Given the description of an element on the screen output the (x, y) to click on. 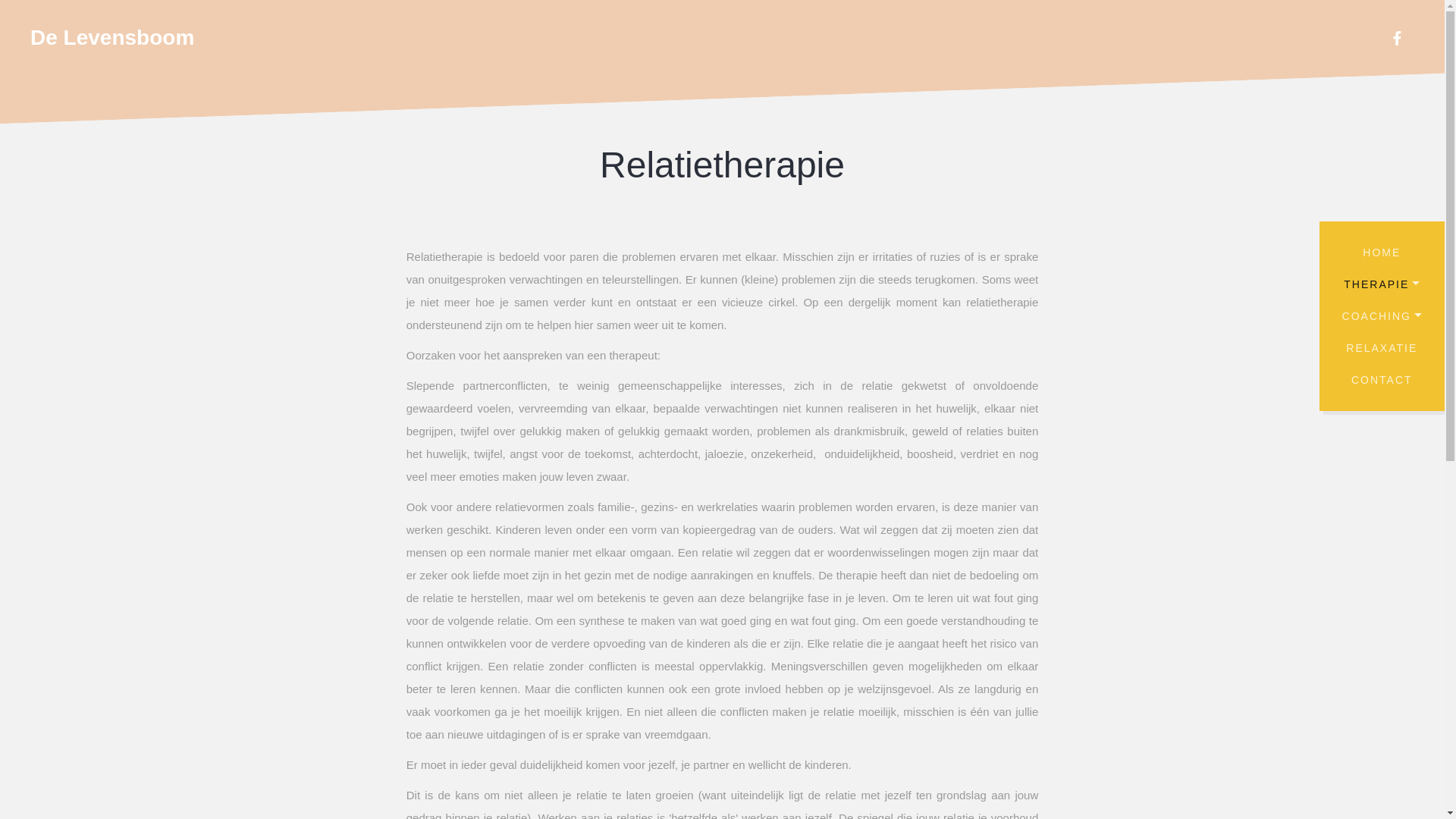
RELAXATIE Element type: text (1382, 348)
HOME Element type: text (1382, 252)
De Levensboom Element type: text (112, 37)
CONTACT Element type: text (1382, 379)
